Given the description of an element on the screen output the (x, y) to click on. 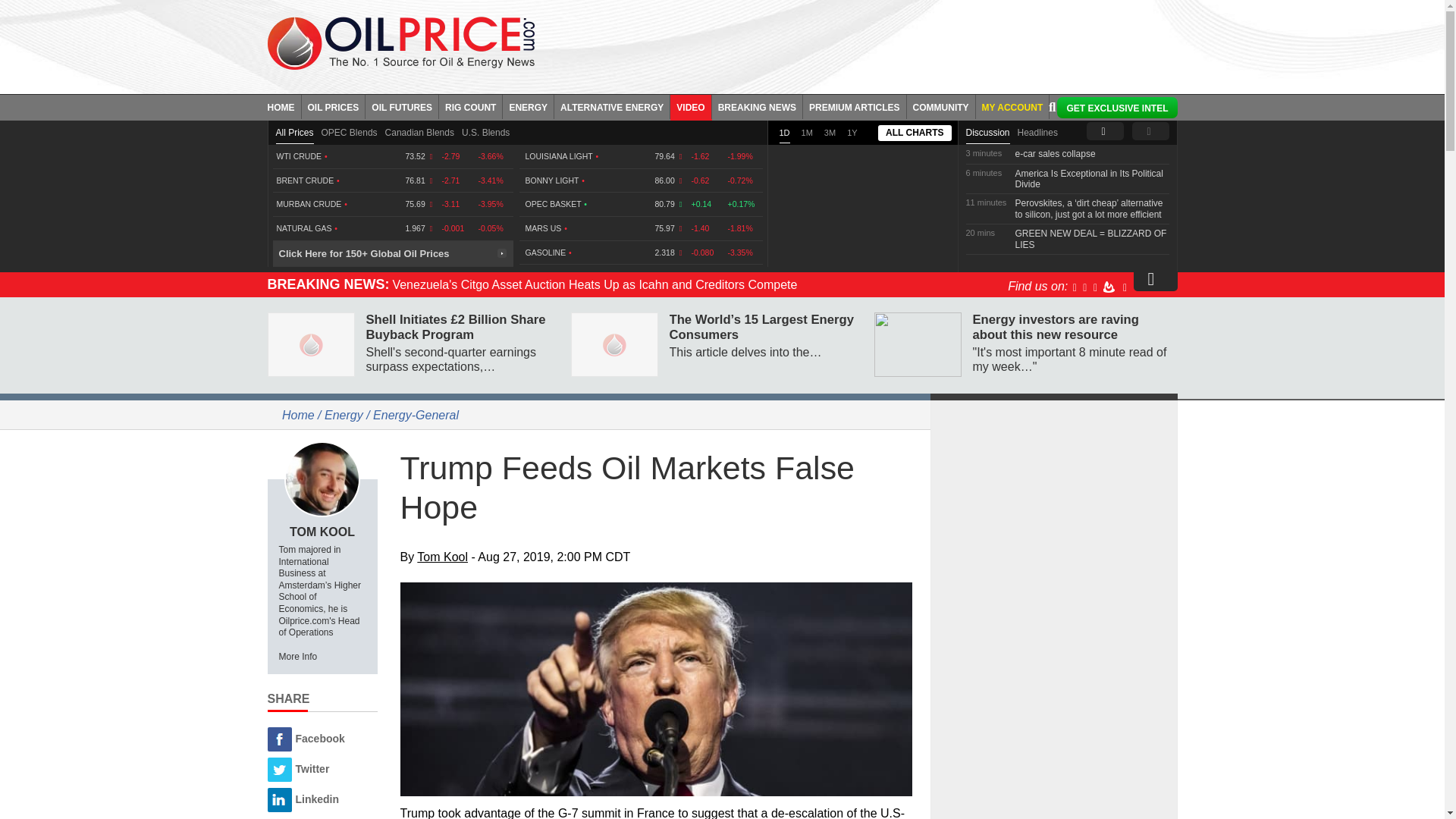
OIL FUTURES (402, 106)
COMMUNITY (941, 106)
ENERGY (528, 106)
Oil prices - Oilprice.com (400, 42)
VIDEO (690, 106)
Tom Kool (321, 478)
OIL PRICES (333, 106)
RIG COUNT (470, 106)
PREMIUM ARTICLES (855, 106)
Trump (656, 689)
